Given the description of an element on the screen output the (x, y) to click on. 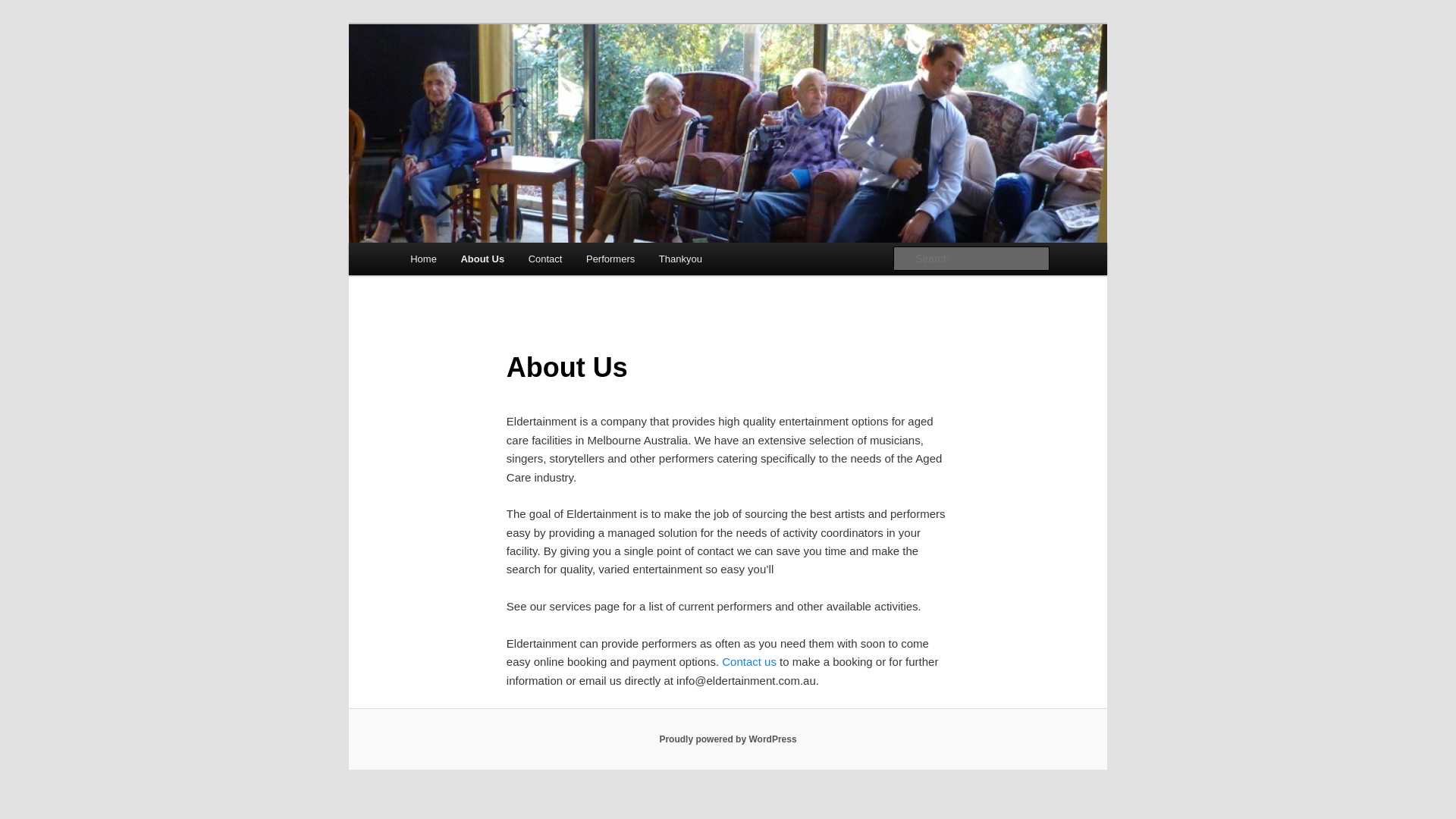
Proudly powered by WordPress Element type: text (727, 739)
Eldertainment Element type: text (482, 78)
Search Element type: text (24, 8)
Skip to primary content Element type: text (420, 242)
Home Element type: text (423, 258)
Contact us Element type: text (748, 661)
About Us Element type: text (482, 258)
Contact Element type: text (545, 258)
Performers Element type: text (610, 258)
Thankyou Element type: text (680, 258)
